Given the description of an element on the screen output the (x, y) to click on. 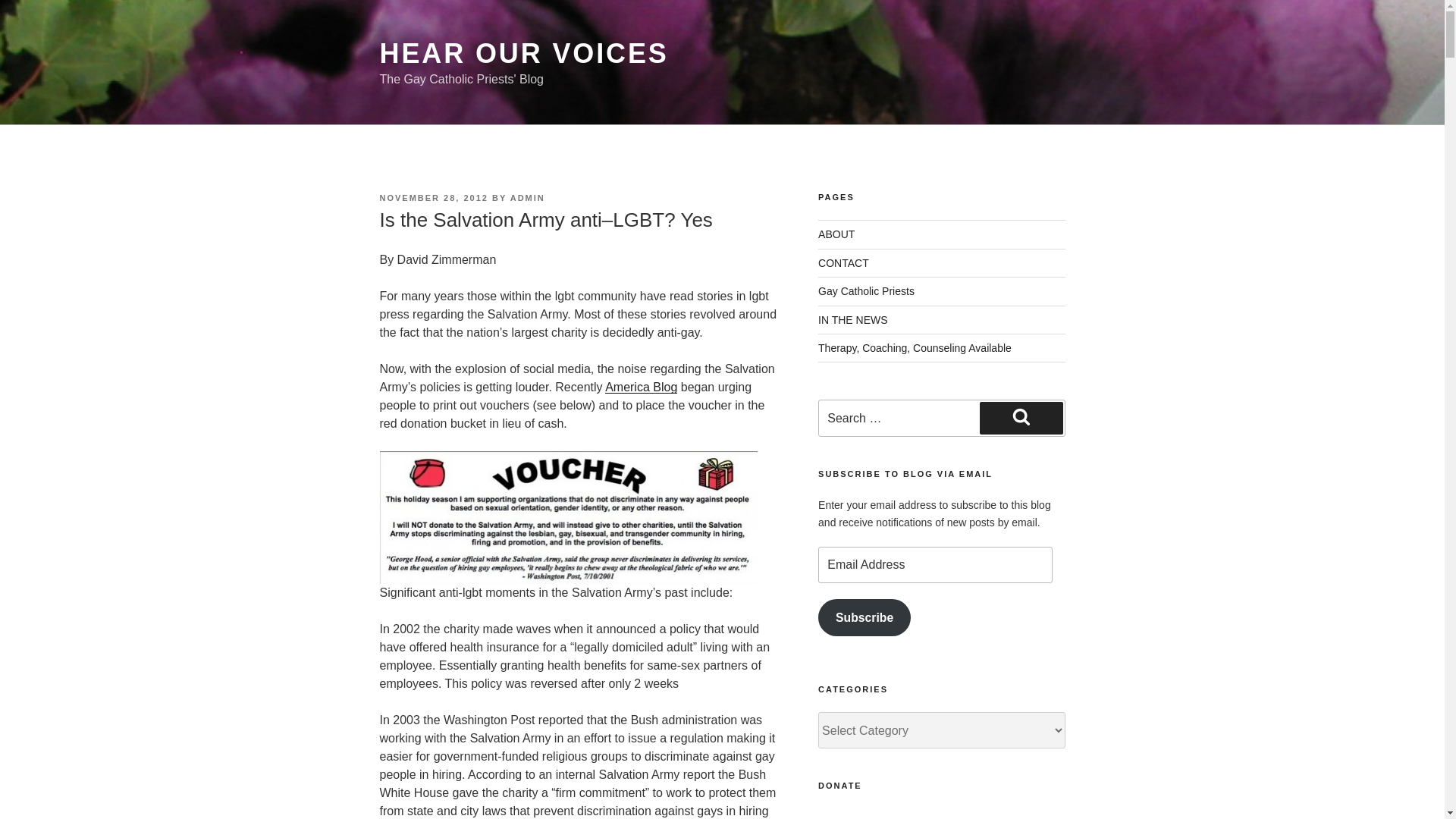
ADMIN (527, 197)
HEAR OUR VOICES (523, 52)
Subscribe (864, 617)
IN THE NEWS (853, 319)
CONTACT (843, 263)
Gay Catholic Priests (866, 291)
Search (1020, 418)
ABOUT (836, 234)
America Blog (641, 386)
Therapy, Coaching, Counseling Available (914, 347)
NOVEMBER 28, 2012 (432, 197)
voucher (568, 517)
